Given the description of an element on the screen output the (x, y) to click on. 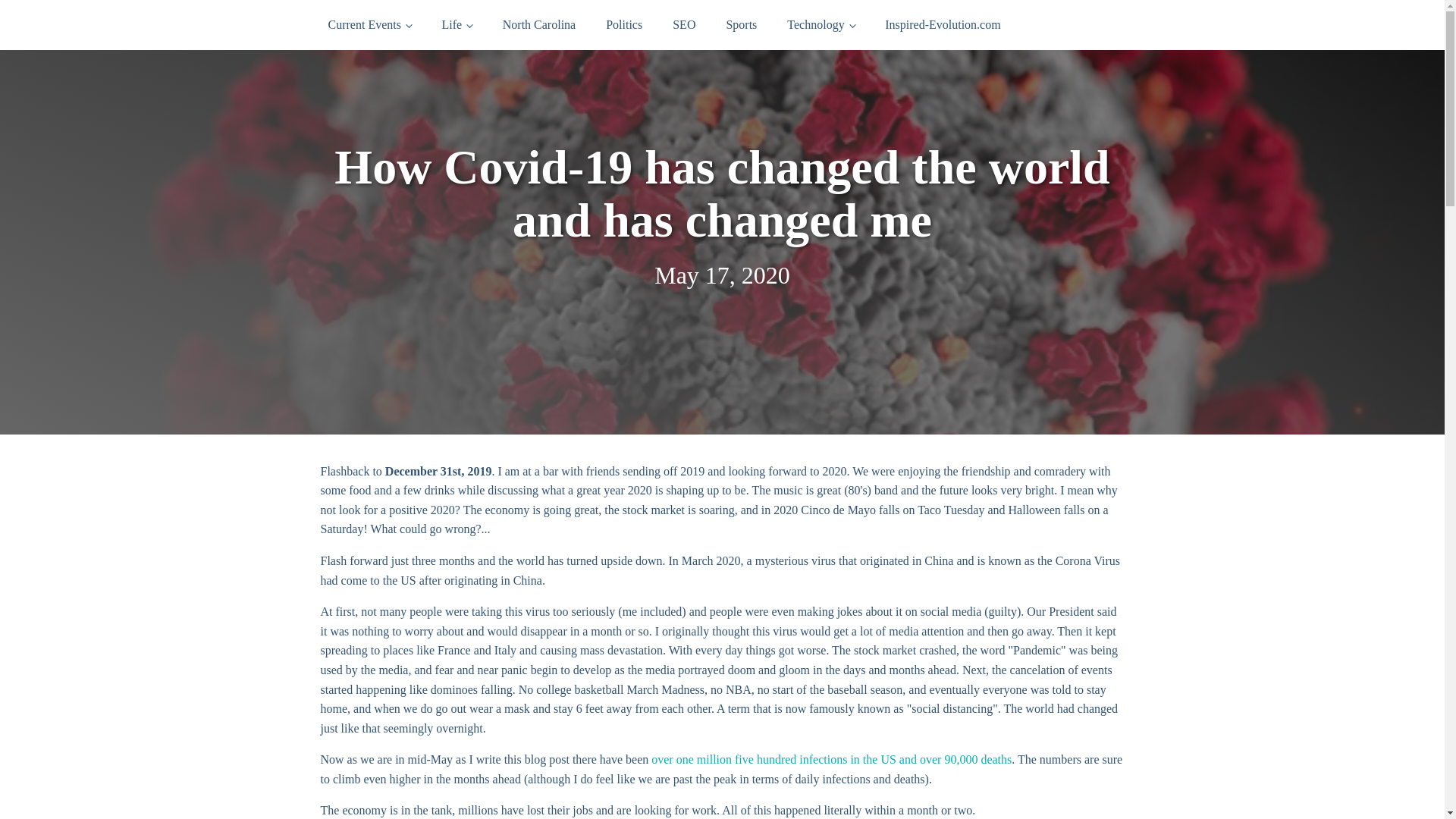
Life (456, 24)
Sports (740, 24)
Technology (820, 24)
Politics (624, 24)
Coronvirus statistics (830, 758)
Current Events (369, 24)
SEO (684, 24)
North Carolina (539, 24)
Inspired-Evolution.com (941, 24)
